Given the description of an element on the screen output the (x, y) to click on. 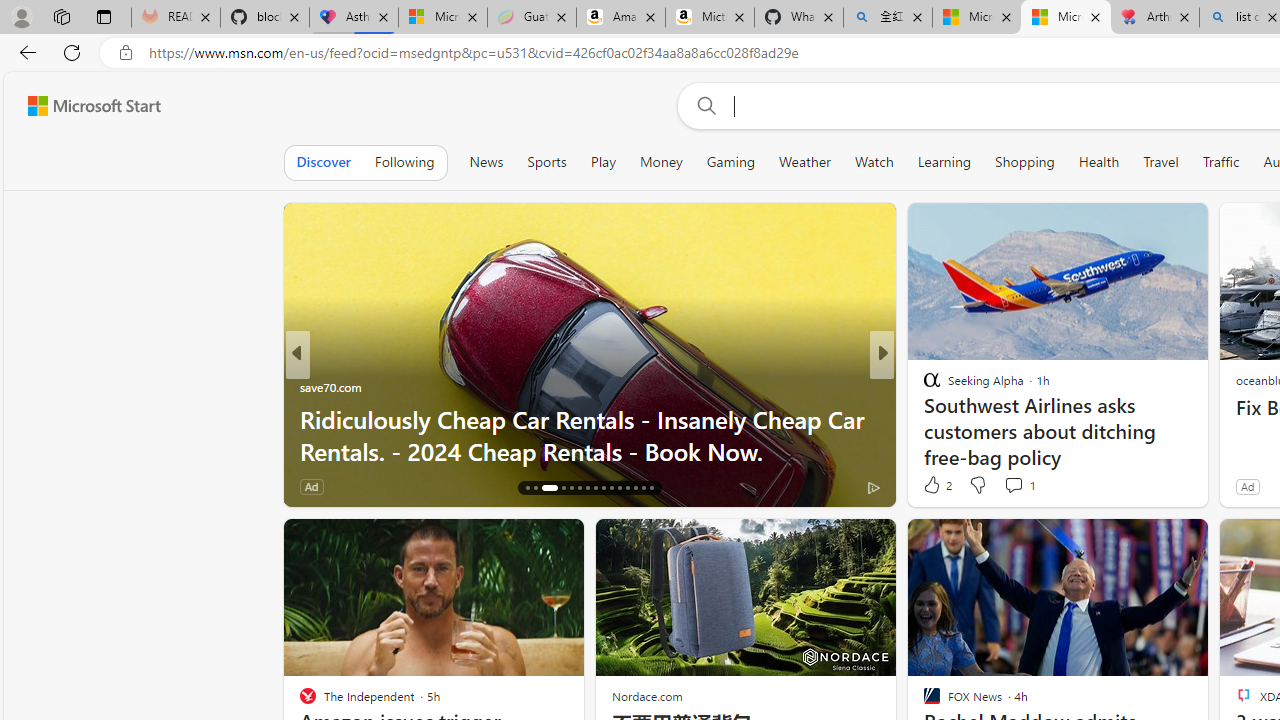
View comments 9 Comment (1019, 486)
AutomationID: tab-26 (619, 487)
125 Like (936, 486)
Scripps News (923, 386)
Hide this story (1147, 542)
View comments 4 Comment (1026, 486)
View comments 3 Comment (1014, 485)
51 Like (934, 486)
Allrecipes (923, 386)
AutomationID: tab-25 (610, 487)
